Given the description of an element on the screen output the (x, y) to click on. 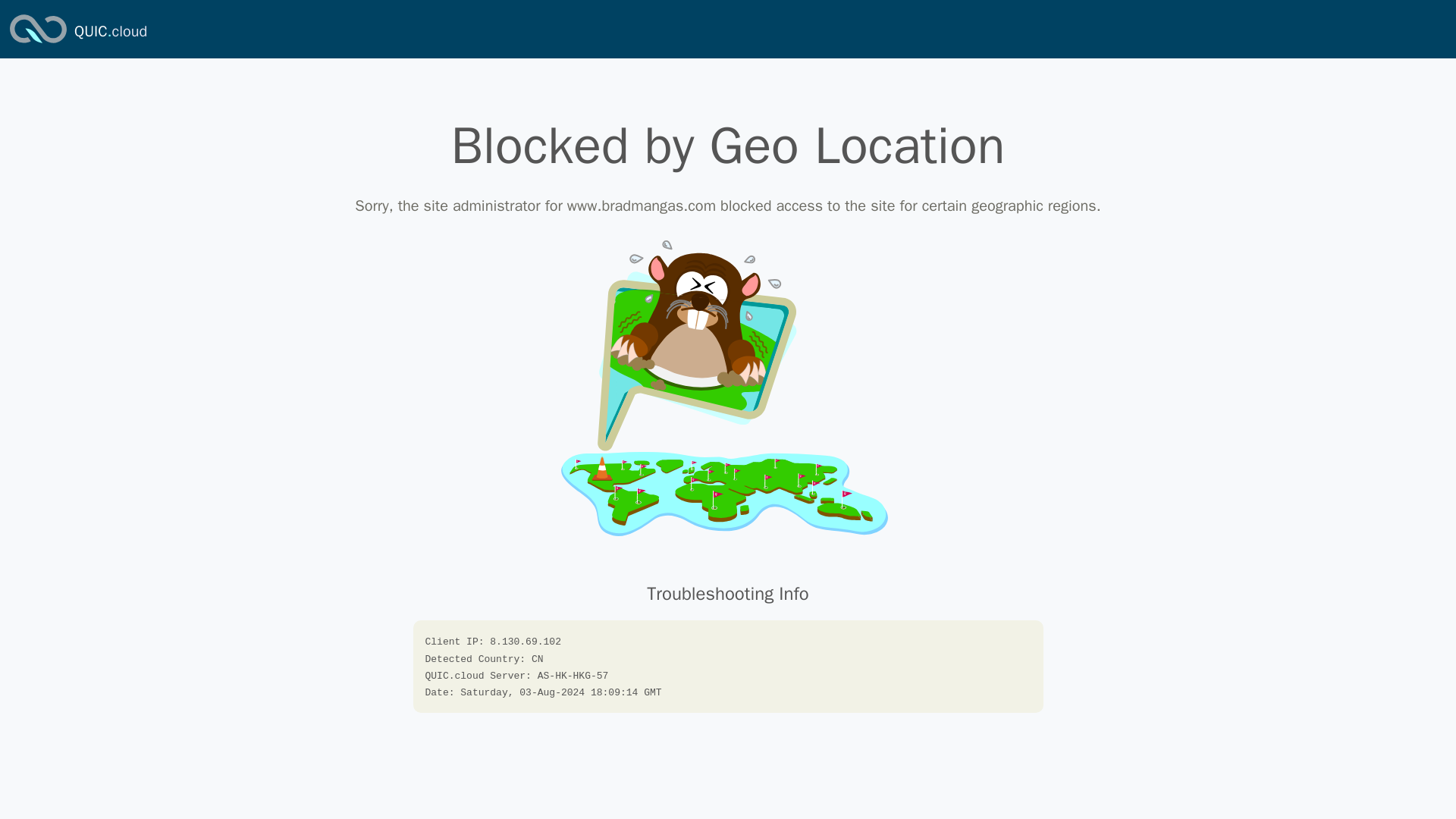
QUIC.cloud (37, 43)
QUIC.cloud (110, 31)
QUIC.cloud (110, 31)
